Given the description of an element on the screen output the (x, y) to click on. 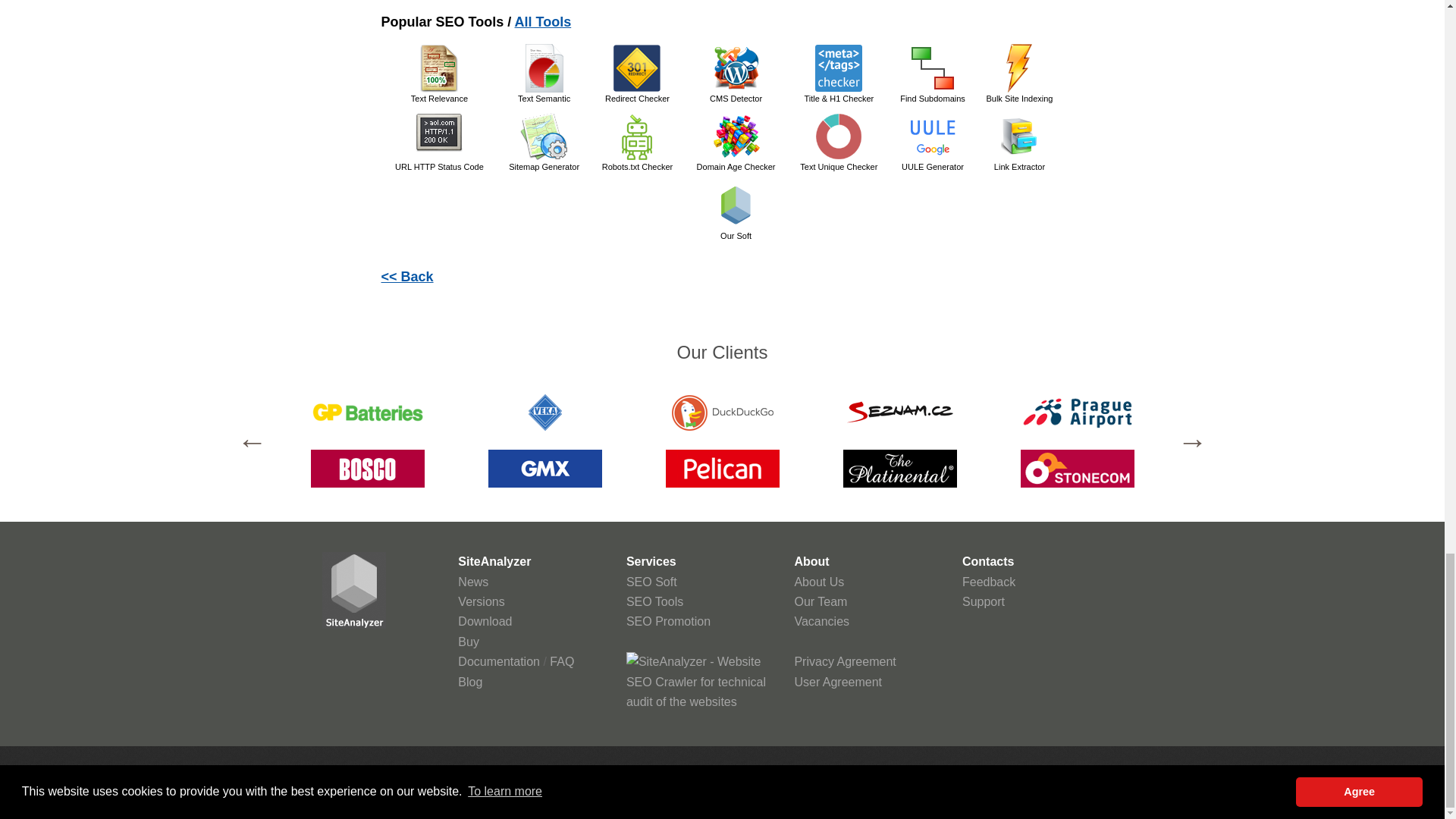
Sitemap Generator (544, 136)
Text Relevance Analysis (438, 68)
Find Subdomains (932, 68)
Text Semantic Analysis (544, 68)
Bulk Site Indexing on Google (1018, 68)
Domain Age Checker (735, 136)
URL HTTP Status Code (438, 136)
Redirect Checker (636, 68)
Robots.txt Checker (636, 136)
CMS Detector (735, 68)
Text Unique Checker (838, 136)
